Given the description of an element on the screen output the (x, y) to click on. 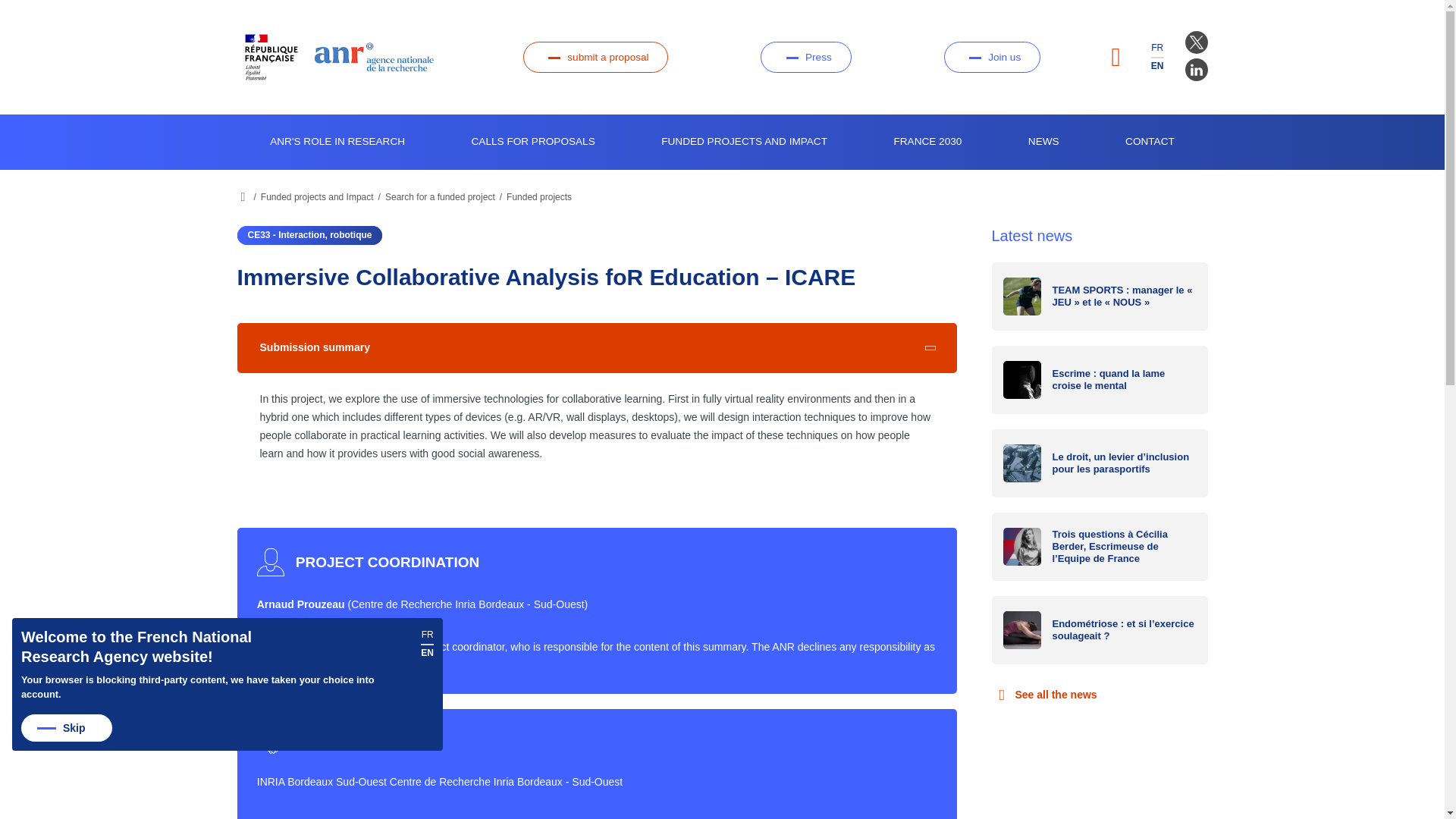
submit a proposal (595, 56)
Join us (992, 56)
Escrime : quand la lame croise le mental (1099, 379)
FR (1157, 47)
Press (805, 56)
EN (1157, 65)
ANR'S ROLE IN RESEARCH (336, 141)
